Given the description of an element on the screen output the (x, y) to click on. 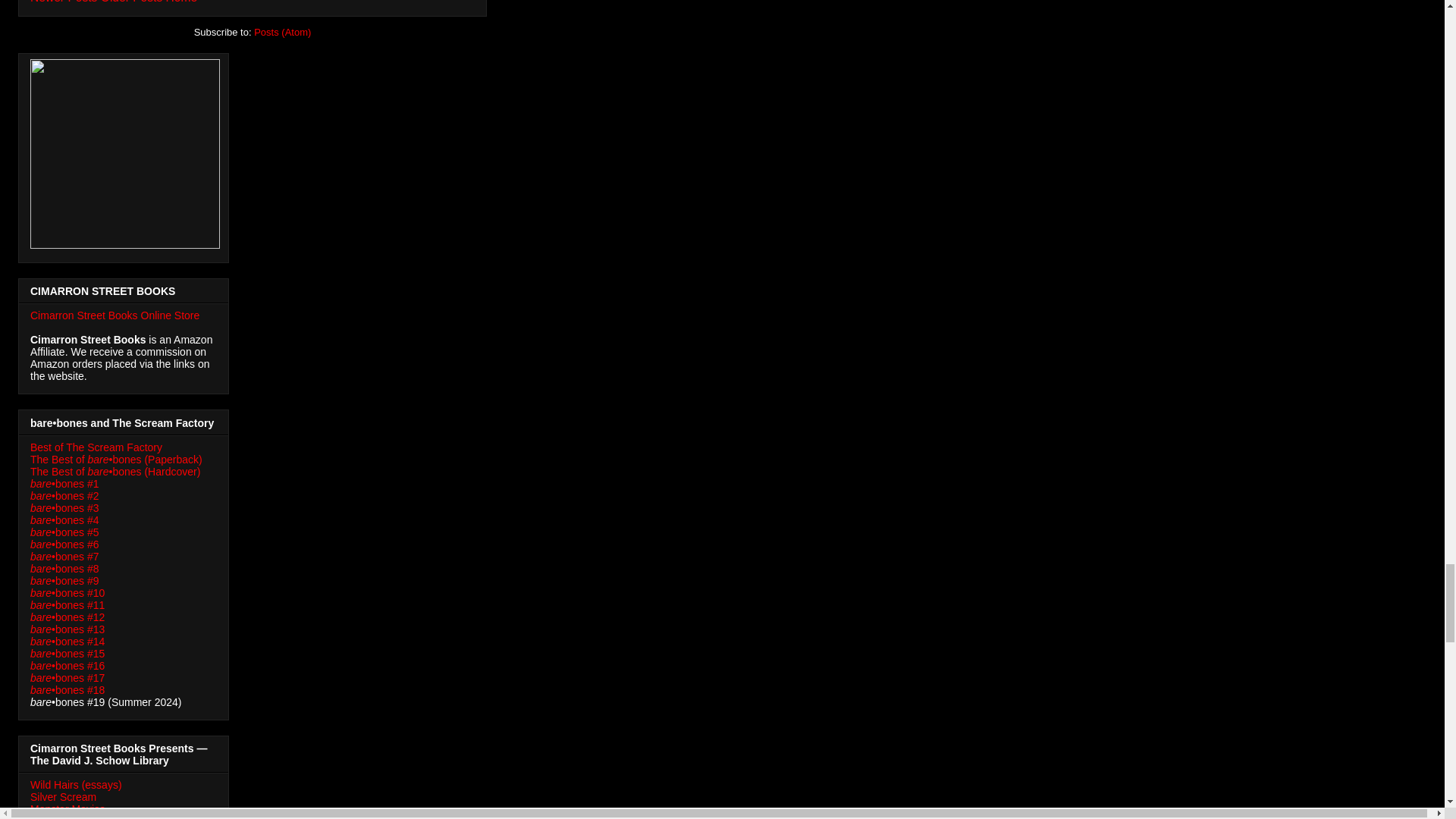
Home (181, 2)
Best of The Scream Factory (95, 447)
Newer Posts (63, 2)
Older Posts (130, 2)
Newer Posts (63, 2)
Older Posts (130, 2)
Cimarron Street Books Online Store (114, 315)
